Given the description of an element on the screen output the (x, y) to click on. 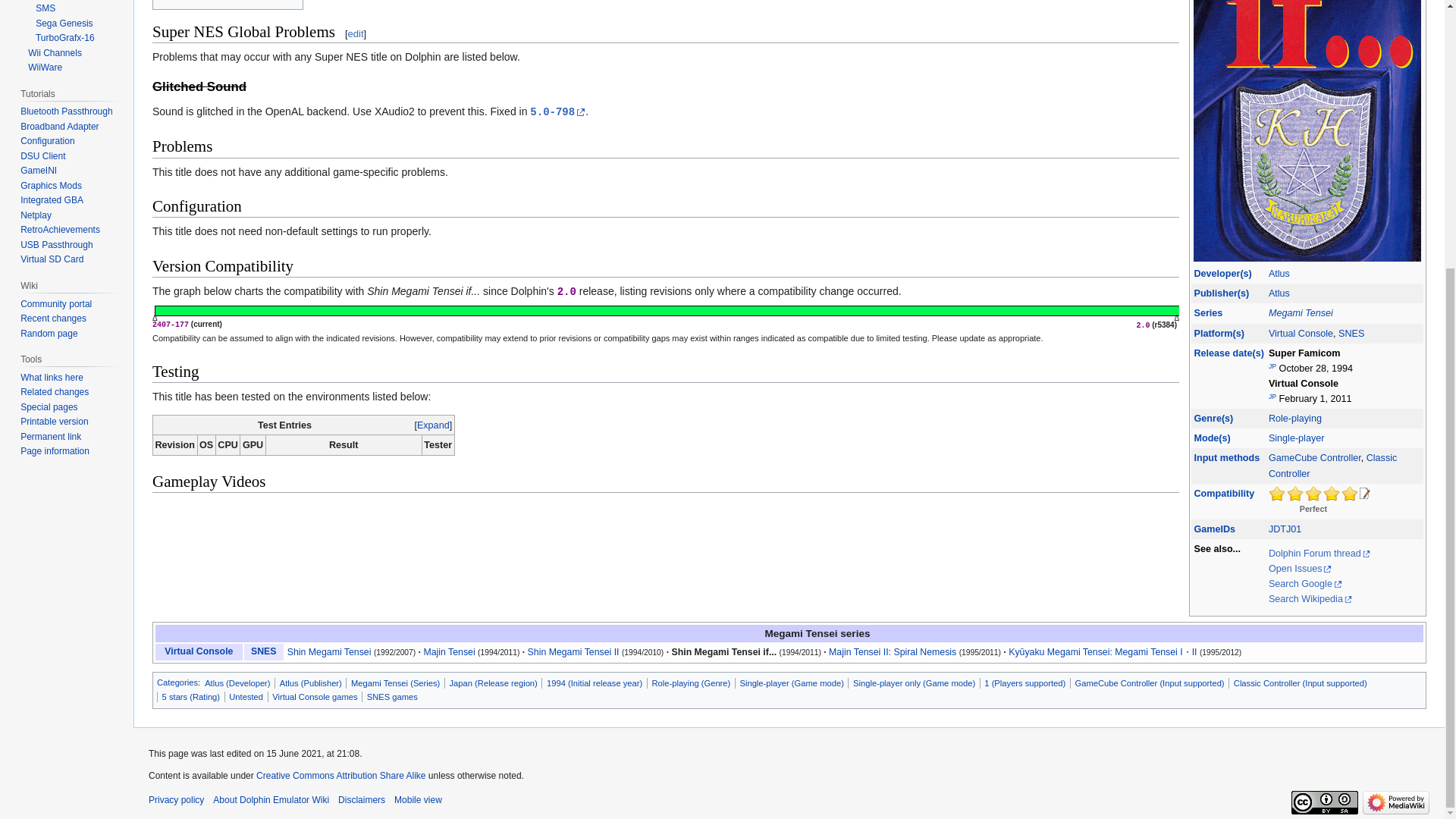
SNES (1351, 332)
JDTJ01 (1284, 529)
Category:Genres (1213, 418)
JP (1272, 396)
Role-playing (1295, 418)
GameCube Controller (1314, 457)
Megami Tensei (1300, 312)
Compatibility (1223, 493)
Classic Controller (1332, 465)
Dolphin Forum thread (1319, 552)
